Given the description of an element on the screen output the (x, y) to click on. 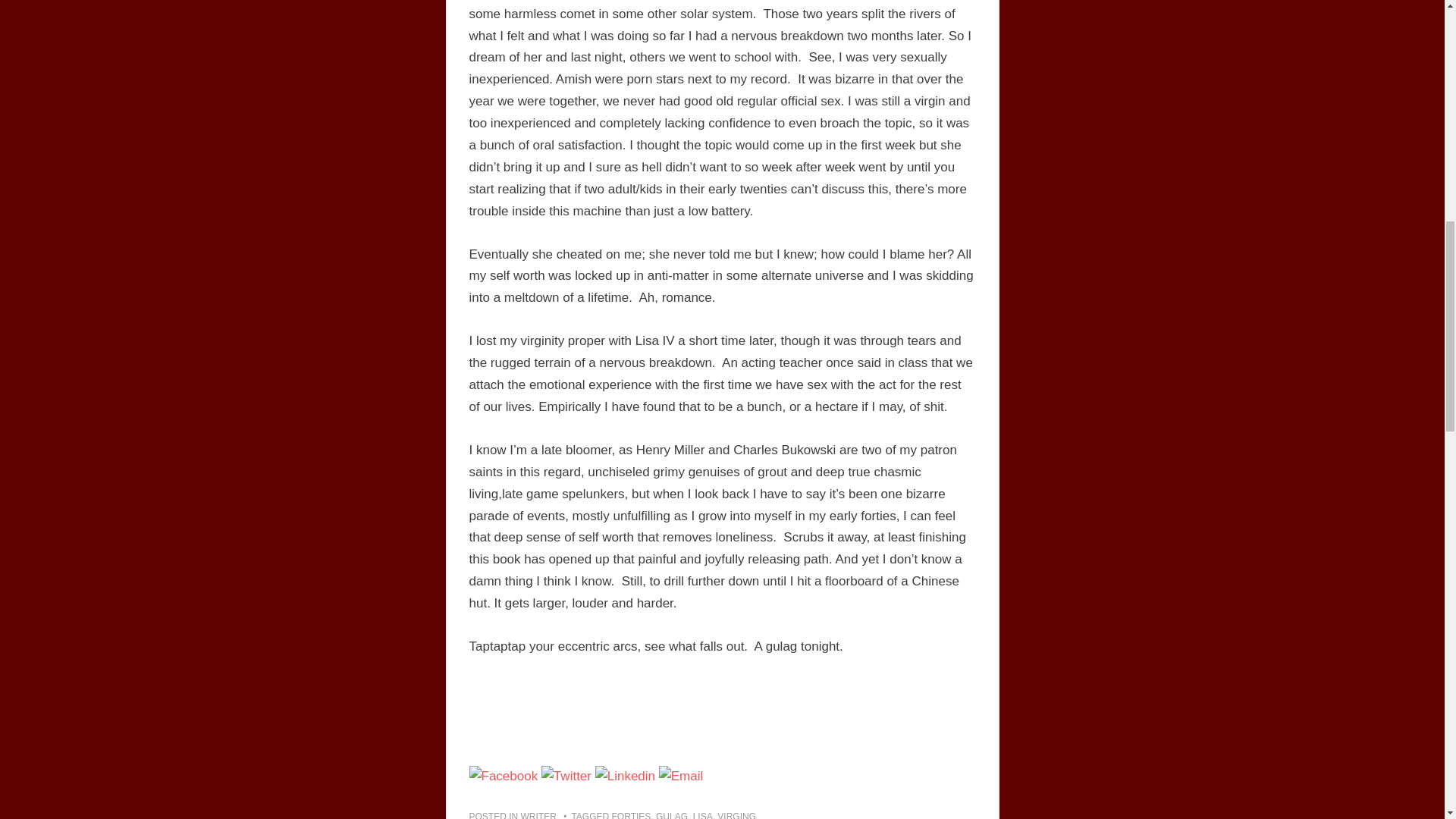
Twitter (566, 775)
VIRGING (736, 815)
Linkedin (625, 775)
FORTIES (630, 815)
GULAG (671, 815)
WRITER (538, 815)
Facebook (502, 775)
Email (681, 775)
LISA (703, 815)
